Given the description of an element on the screen output the (x, y) to click on. 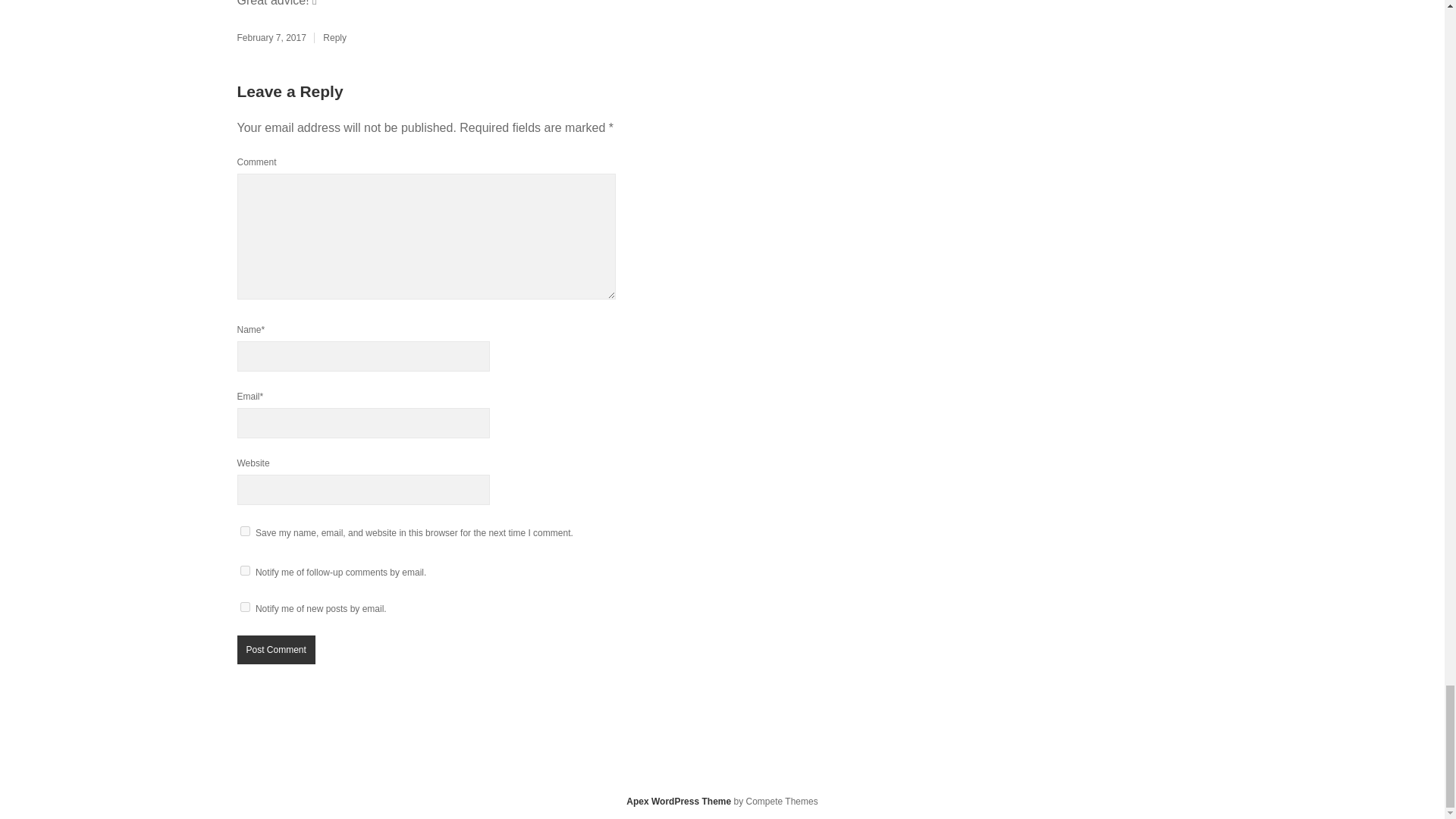
subscribe (244, 606)
Post Comment (274, 649)
yes (244, 531)
subscribe (244, 570)
Apex WordPress Theme (678, 801)
Post Comment (274, 649)
Reply (334, 37)
